Given the description of an element on the screen output the (x, y) to click on. 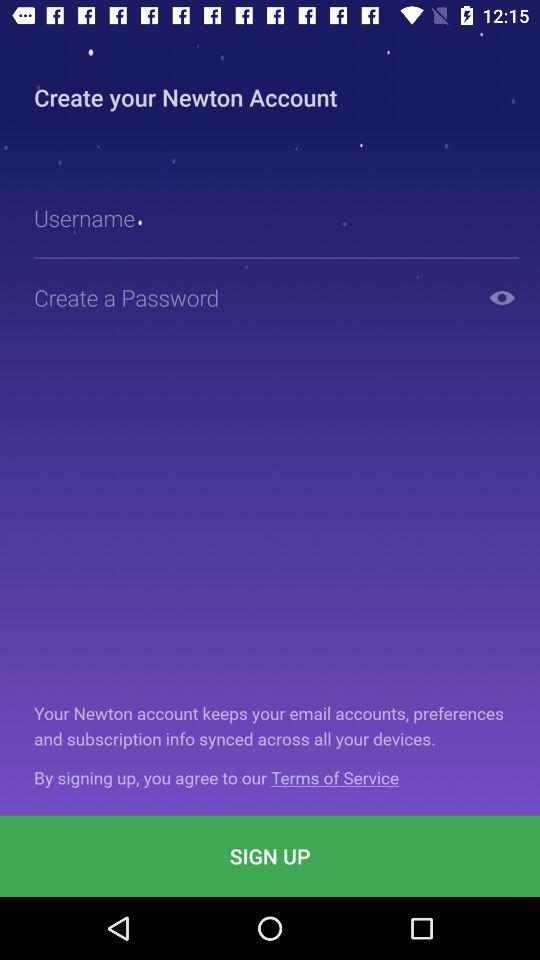
write password (251, 297)
